Given the description of an element on the screen output the (x, y) to click on. 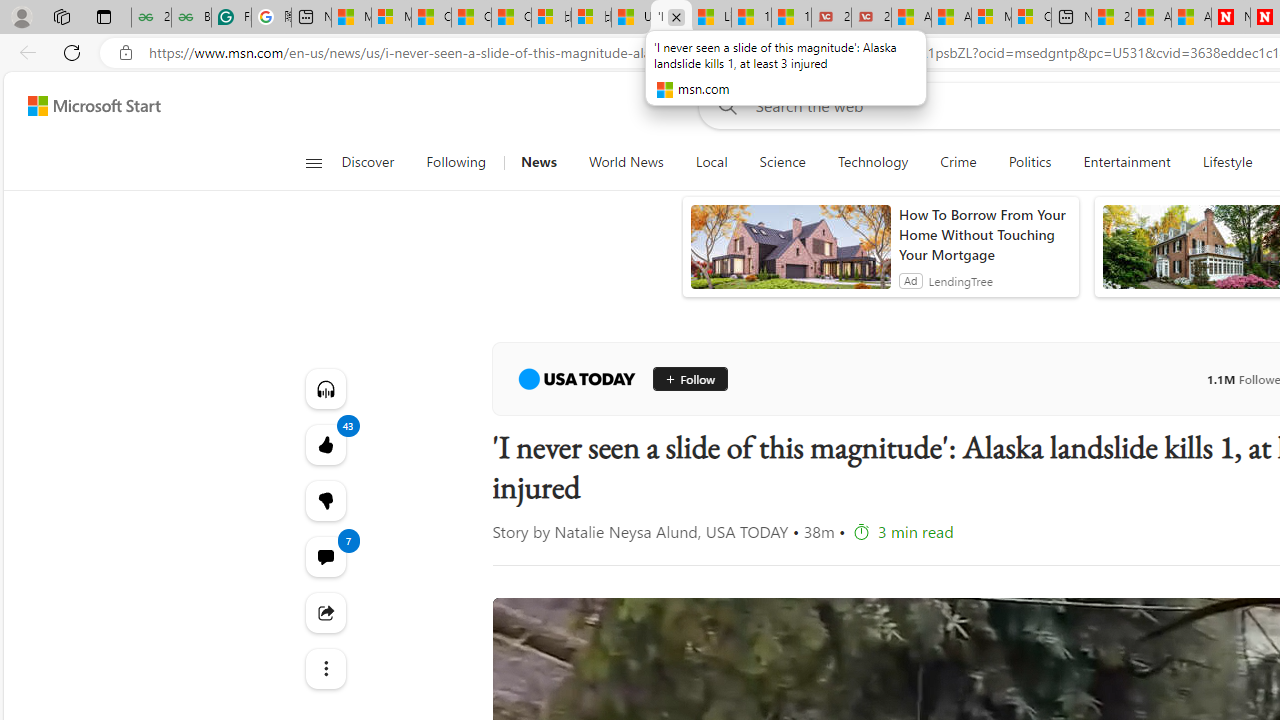
Cloud Computing Services | Microsoft Azure (1031, 17)
Lifestyle - MSN (711, 17)
20 Ways to Boost Your Protein Intake at Every Meal (1111, 17)
Listen to this article (324, 388)
USA TODAY (576, 378)
43 Like (324, 444)
